Given the description of an element on the screen output the (x, y) to click on. 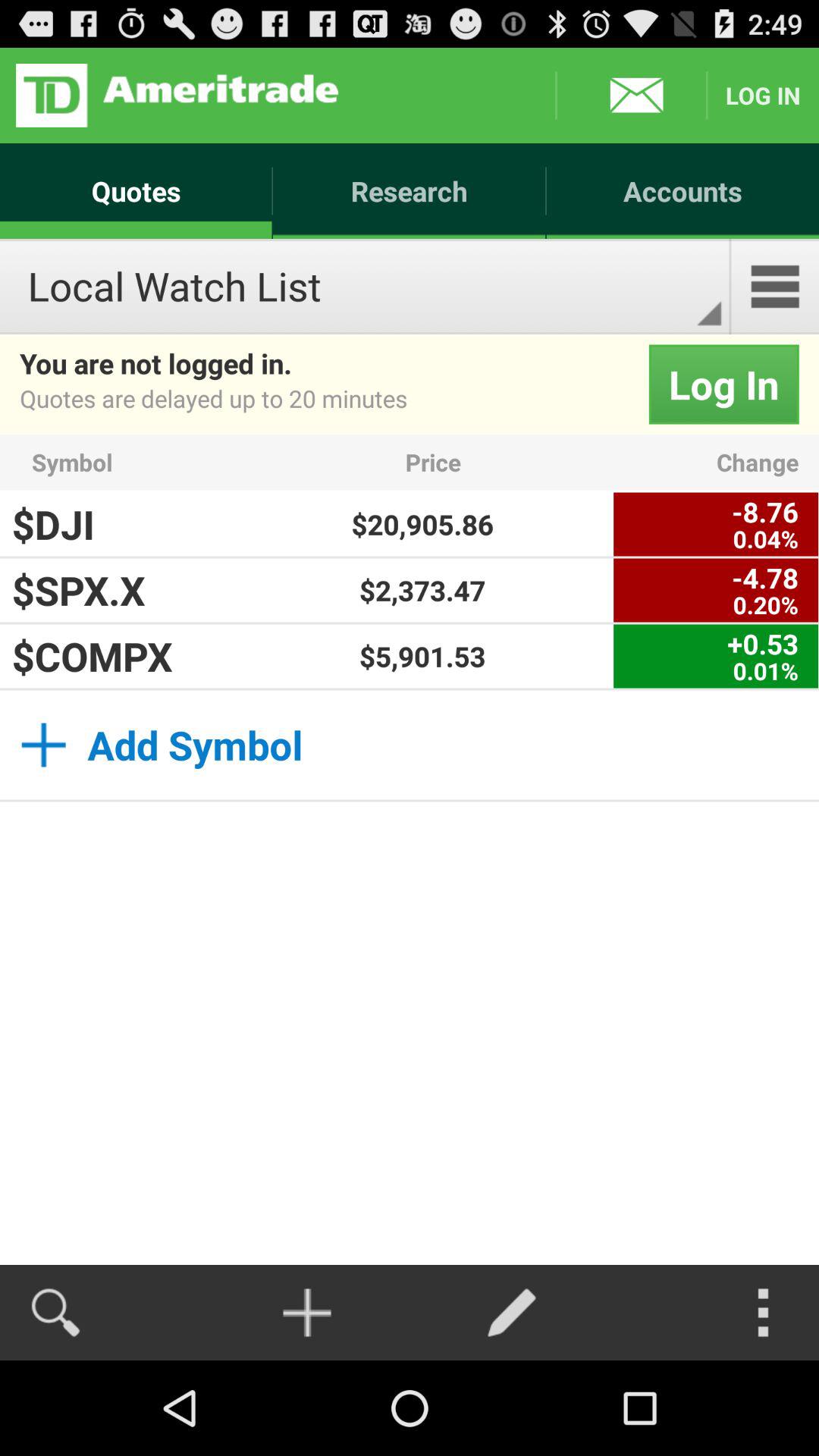
turn on the app to the left of the accounts icon (176, 95)
